Given the description of an element on the screen output the (x, y) to click on. 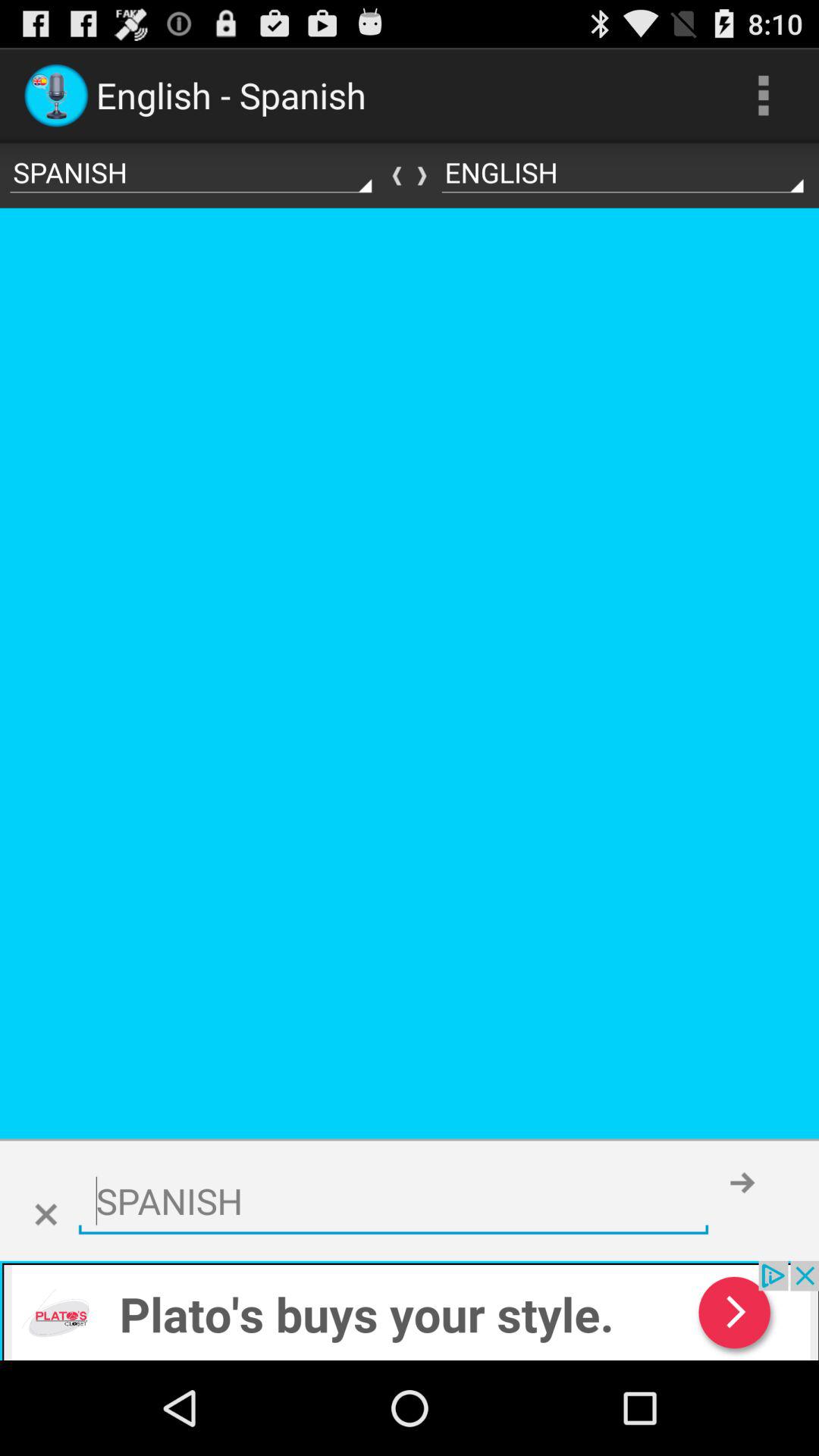
advertisement sponsored link (409, 1310)
